Given the description of an element on the screen output the (x, y) to click on. 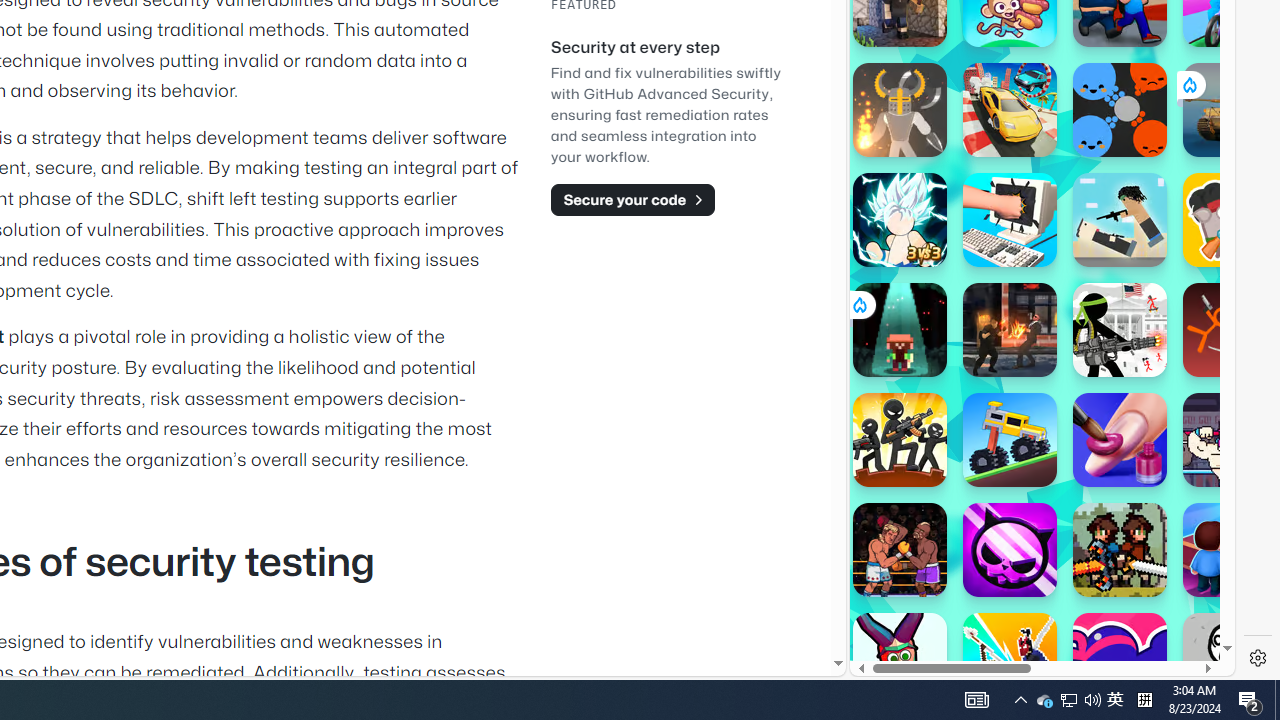
Rooftop Snipers (1119, 219)
Fury Wars (1009, 549)
Hills of Steel Hills of Steel poki.com (943, 245)
poki.com (1092, 338)
Apple Knight: Fight (1119, 549)
Big Shot Boxing (899, 549)
Quivershot (899, 329)
Ragdoll Hit Ragdoll Hit (899, 109)
Class: rCs5cyEiqiTpYvt_VBCR (858, 304)
Rowdy Wrestling Rowdy Wrestling (1229, 439)
My Perfect Hotel (1229, 549)
Funny Shooter 2 Funny Shooter 2 (899, 659)
Streets of Anarchy: Fists of War (1009, 329)
Quivershot Quivershot (899, 329)
